Given the description of an element on the screen output the (x, y) to click on. 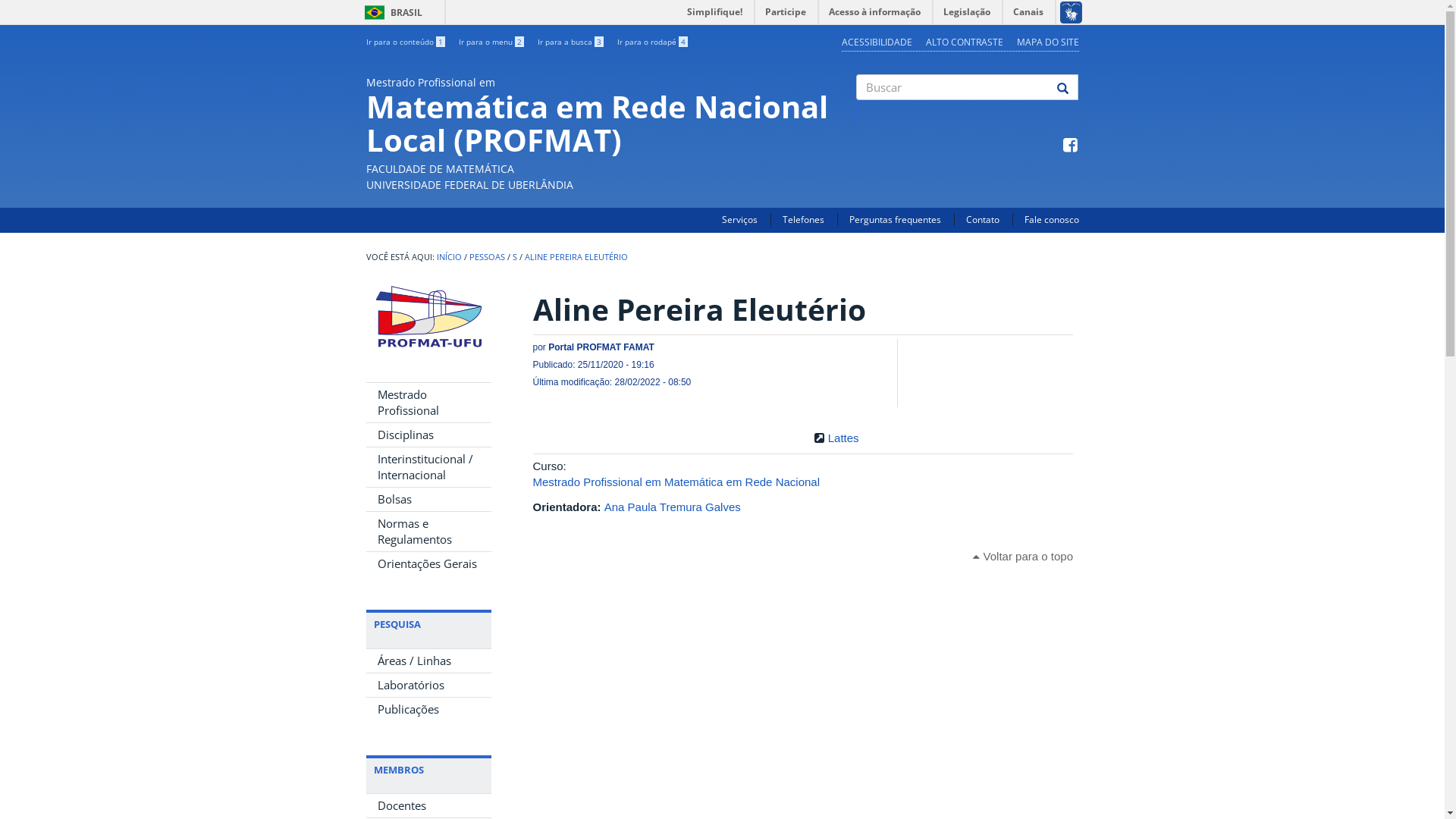
Tweet Widget Element type: text (936, 369)
ALTO CONTRASTE Element type: text (963, 41)
Telefones Element type: text (803, 219)
Compartilhe no Facebook Element type: text (959, 347)
Ana Paula Tremura Galves Element type: text (672, 506)
Voltar para o topo Element type: text (1022, 555)
MAPA DO SITE Element type: text (1047, 41)
BRASIL Element type: text (373, 12)
Google Plus One Element type: text (943, 392)
Perguntas frequentes Element type: text (895, 219)
S Element type: text (514, 256)
Mestrado Profissional Element type: text (427, 402)
PPGE Element type: hover (427, 316)
Ir para o menu 2 Element type: text (490, 41)
Contato Element type: text (982, 219)
Docentes Element type: text (427, 805)
Fale conosco Element type: text (1050, 219)
Disciplinas Element type: text (427, 434)
ACESSIBILIDADE Element type: text (876, 41)
PESSOAS Element type: text (486, 256)
Interinstitucional / Internacional Element type: text (427, 466)
Lattes Element type: text (843, 437)
Ir para a busca 3 Element type: text (569, 41)
Normas e Regulamentos Element type: text (427, 531)
Buscar Element type: text (856, 112)
Bolsas Element type: text (427, 499)
